Given the description of an element on the screen output the (x, y) to click on. 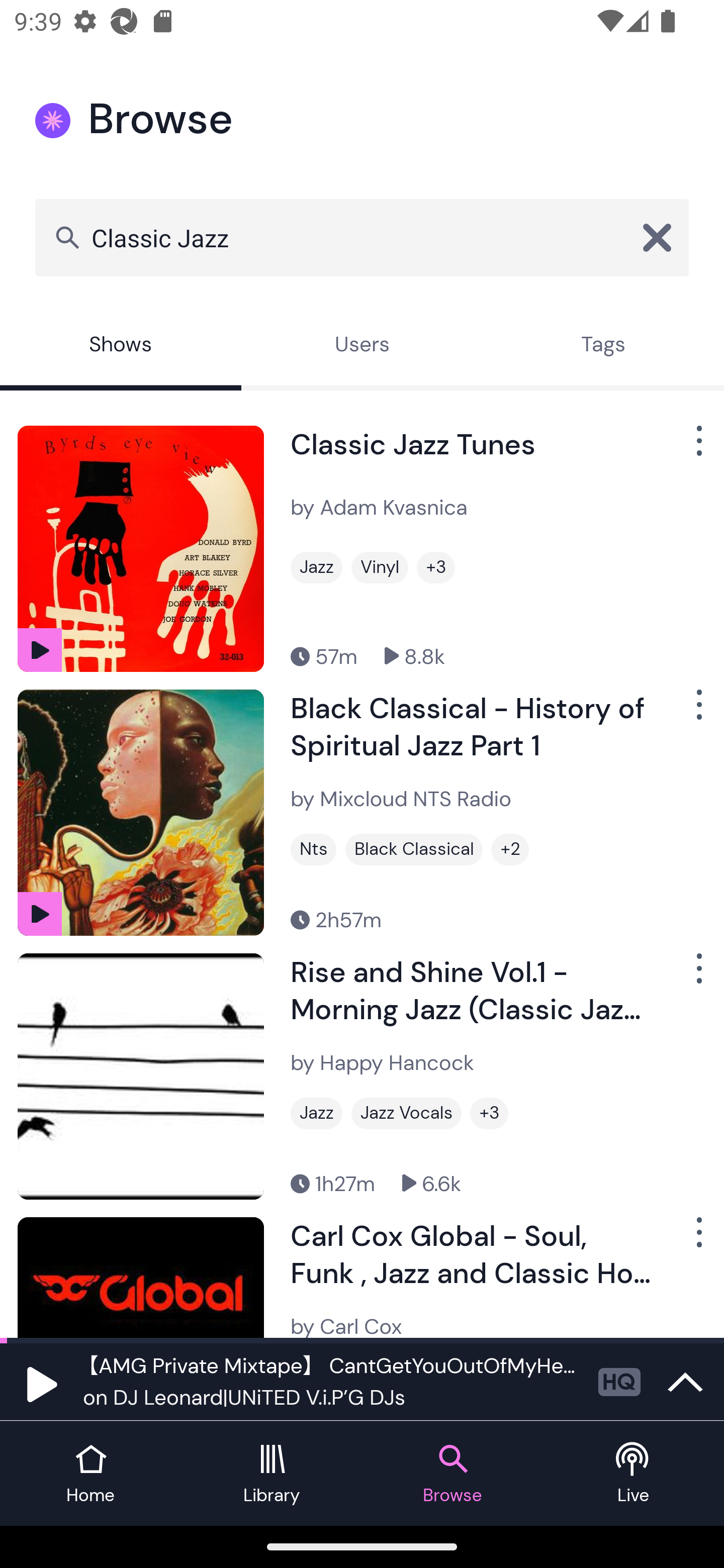
Classic Jazz (361, 237)
Shows (120, 346)
Users (361, 346)
Tags (603, 346)
Show Options Menu Button (697, 447)
Jazz (316, 567)
Vinyl (379, 567)
Show Options Menu Button (697, 712)
Nts (313, 849)
Black Classical (413, 849)
Show Options Menu Button (697, 975)
Jazz (316, 1112)
Jazz Vocals (406, 1112)
Show Options Menu Button (697, 1239)
Home tab Home (90, 1473)
Library tab Library (271, 1473)
Browse tab Browse (452, 1473)
Live tab Live (633, 1473)
